Given the description of an element on the screen output the (x, y) to click on. 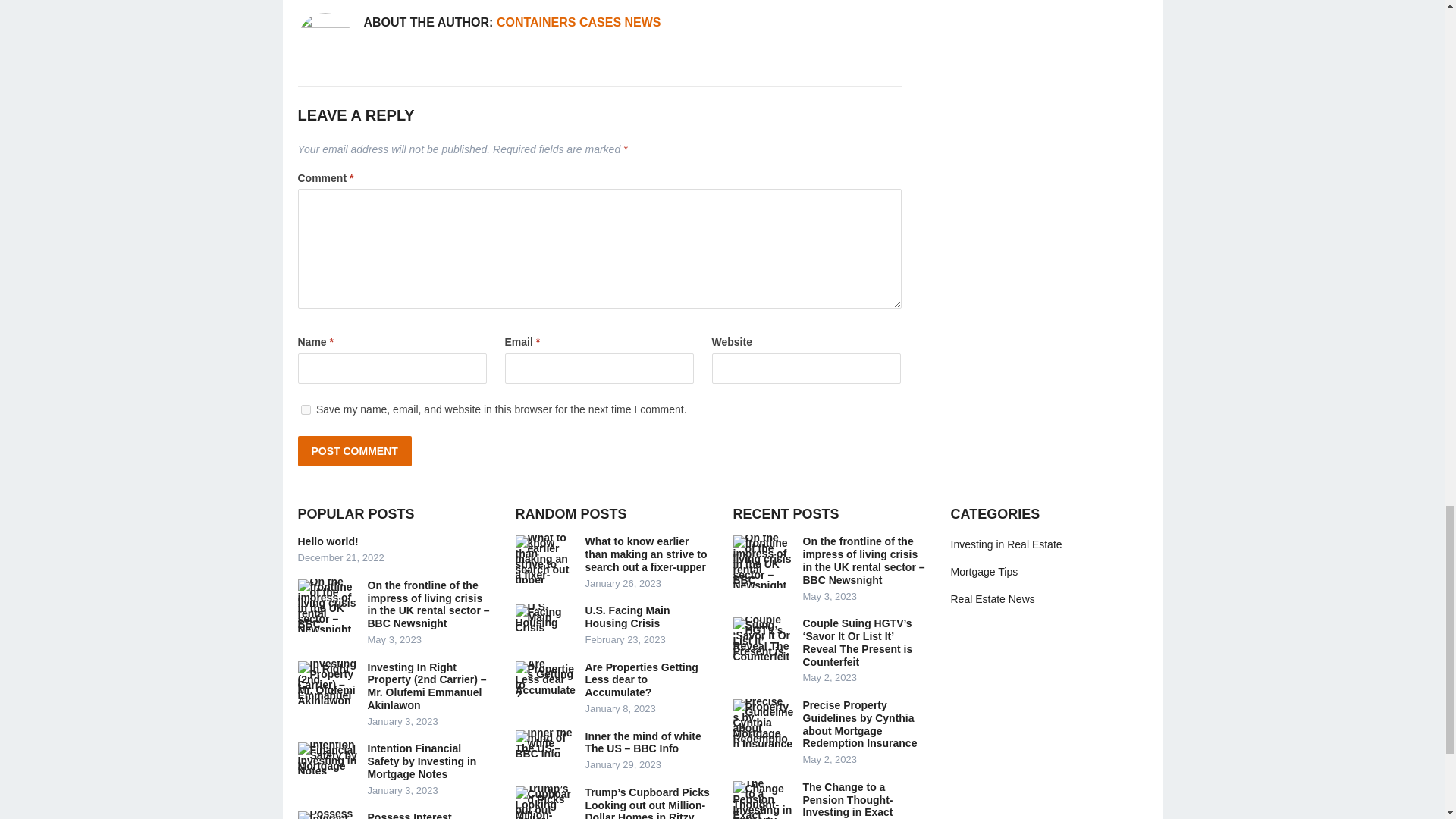
Post Comment (353, 450)
yes (304, 409)
